Given the description of an element on the screen output the (x, y) to click on. 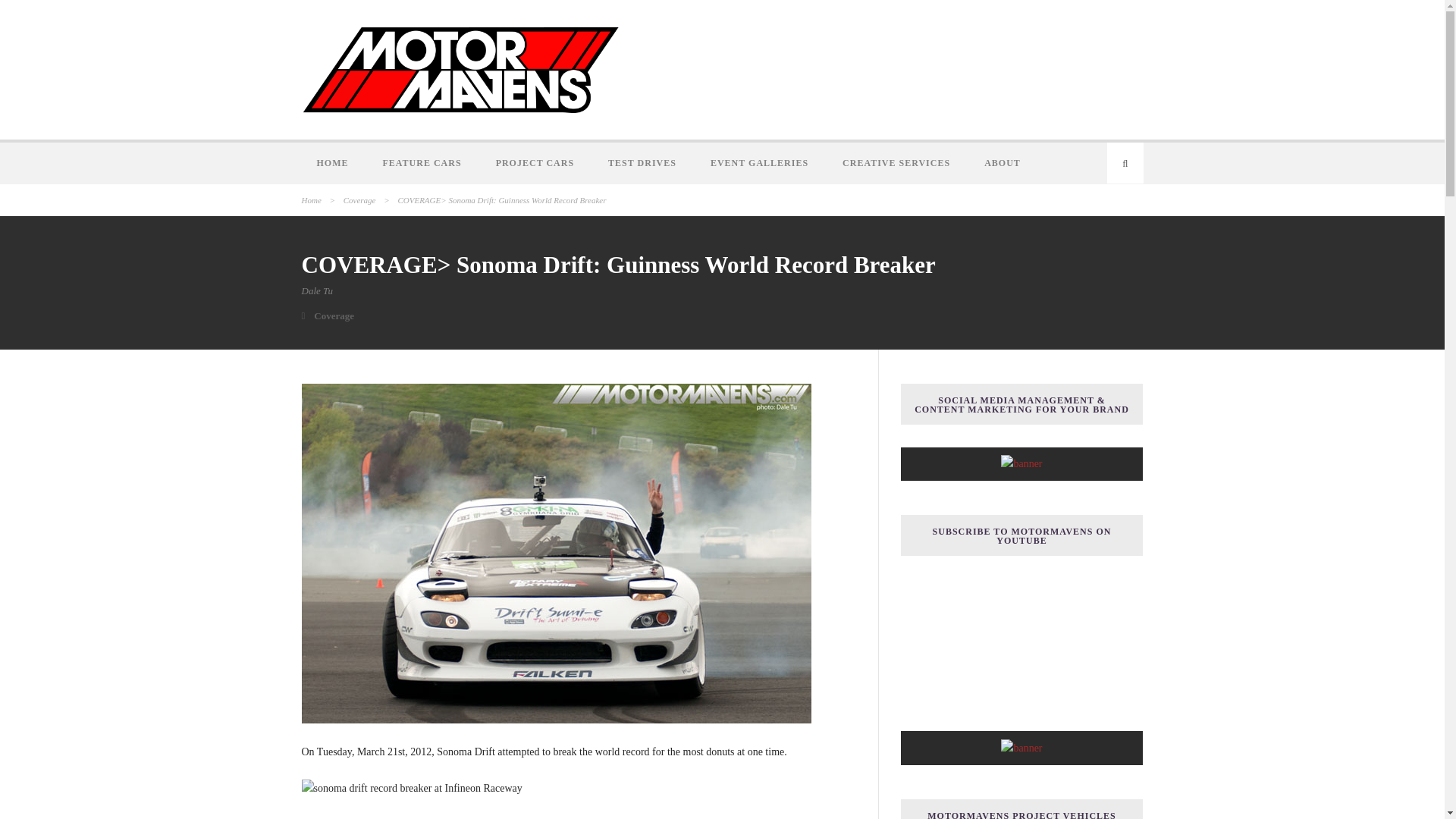
EVENT GALLERIES (761, 162)
Posts by Dale Tu (317, 290)
Coverage (333, 315)
HOME (334, 162)
Dale Tu (317, 290)
PROJECT CARS (536, 162)
Coverage (359, 199)
CREATIVE SERVICES (898, 162)
ABOUT (1004, 162)
TEST DRIVES (643, 162)
